Given the description of an element on the screen output the (x, y) to click on. 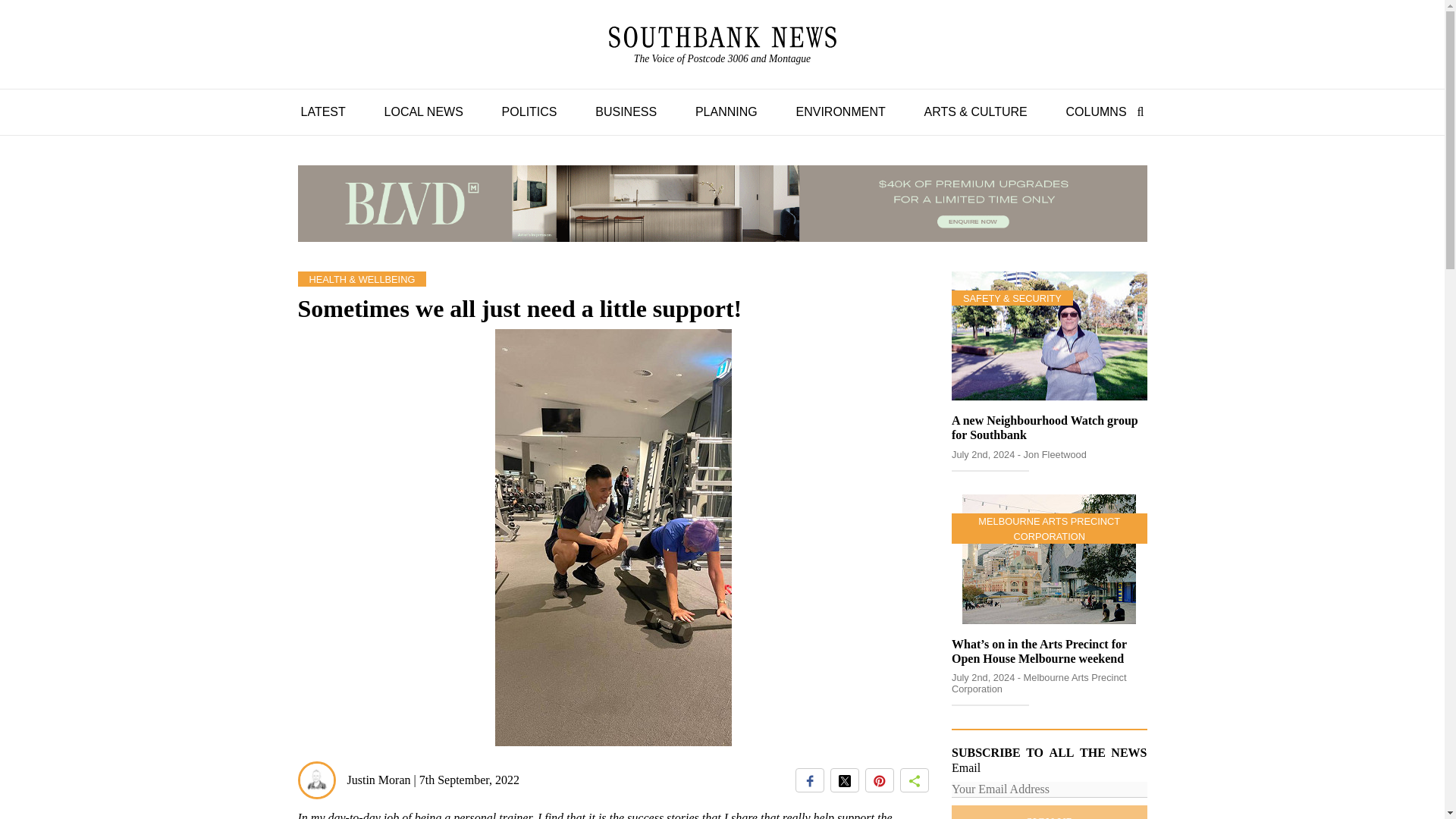
PLANNING (726, 111)
Southbank News (721, 45)
BUSINESS (721, 36)
Search (625, 111)
SIGN UP (1136, 111)
Southbank Local News (1049, 812)
A new Neighbourhood Watch group for Southbank (721, 45)
COLUMNS (1045, 427)
ENVIRONMENT (1095, 111)
MELBOURNE ARTS PRECINCT CORPORATION (840, 111)
LATEST (1048, 528)
POLITICS (322, 111)
LOCAL NEWS (529, 111)
Justin Moran (423, 111)
